Given the description of an element on the screen output the (x, y) to click on. 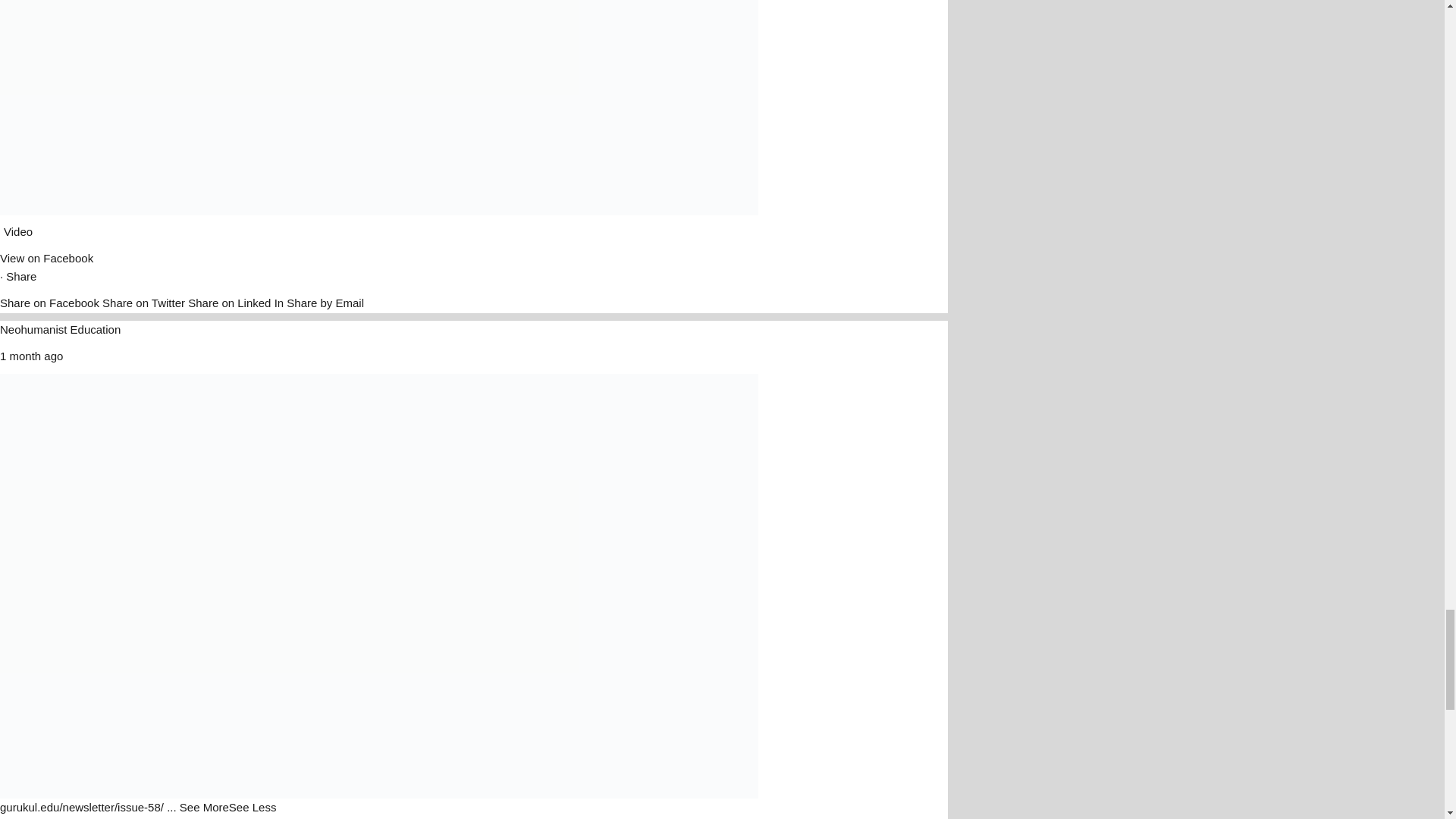
View on Facebook (46, 257)
Share (20, 276)
